Given the description of an element on the screen output the (x, y) to click on. 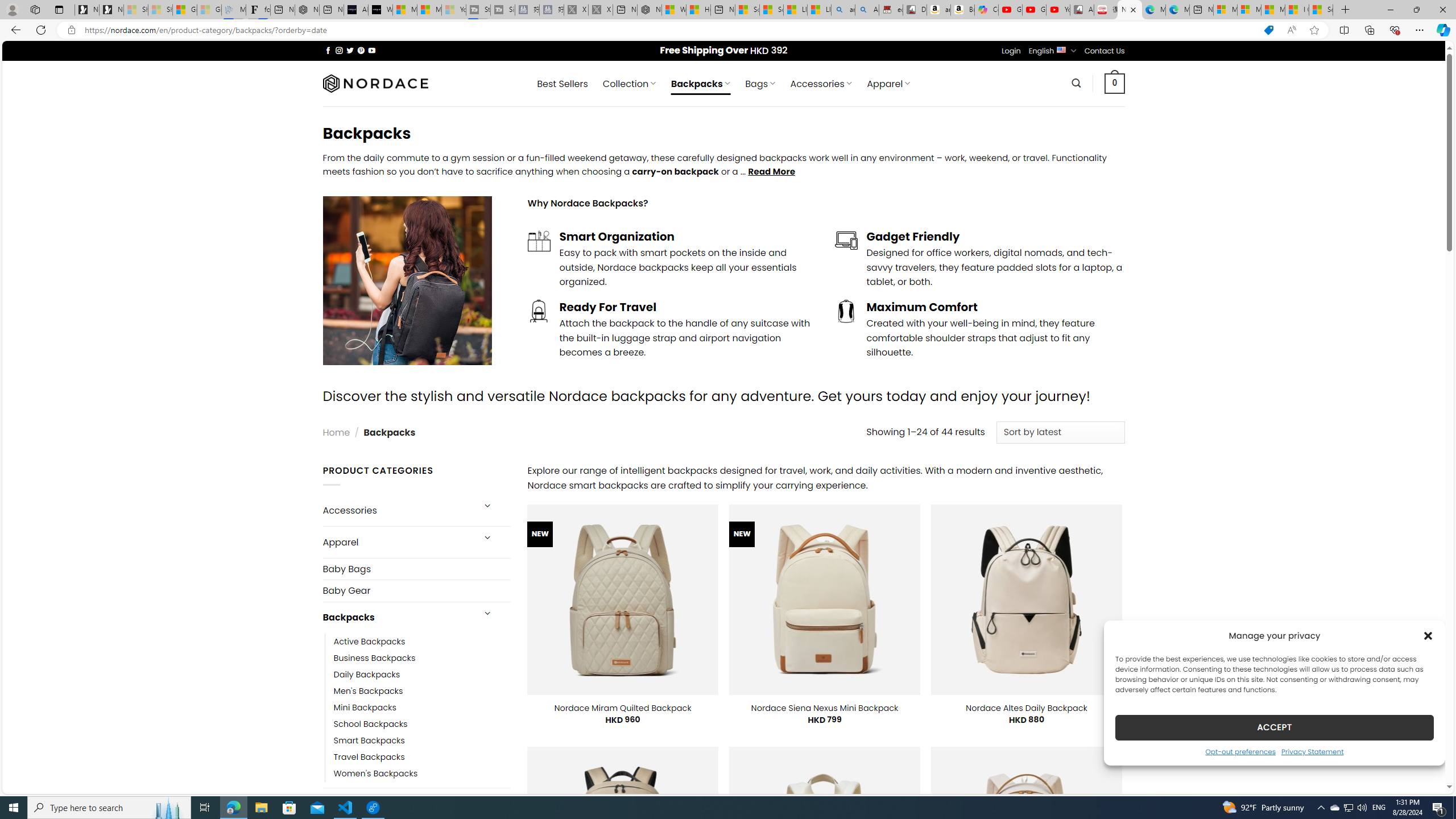
Follow on Instagram (338, 49)
School Backpacks (422, 723)
Privacy Statement (1312, 750)
Nordace Siena Nexus Mini Backpack (824, 708)
What's the best AI voice generator? - voice.ai (380, 9)
Smart Backpacks (368, 740)
ACCEPT (1274, 727)
